Given the description of an element on the screen output the (x, y) to click on. 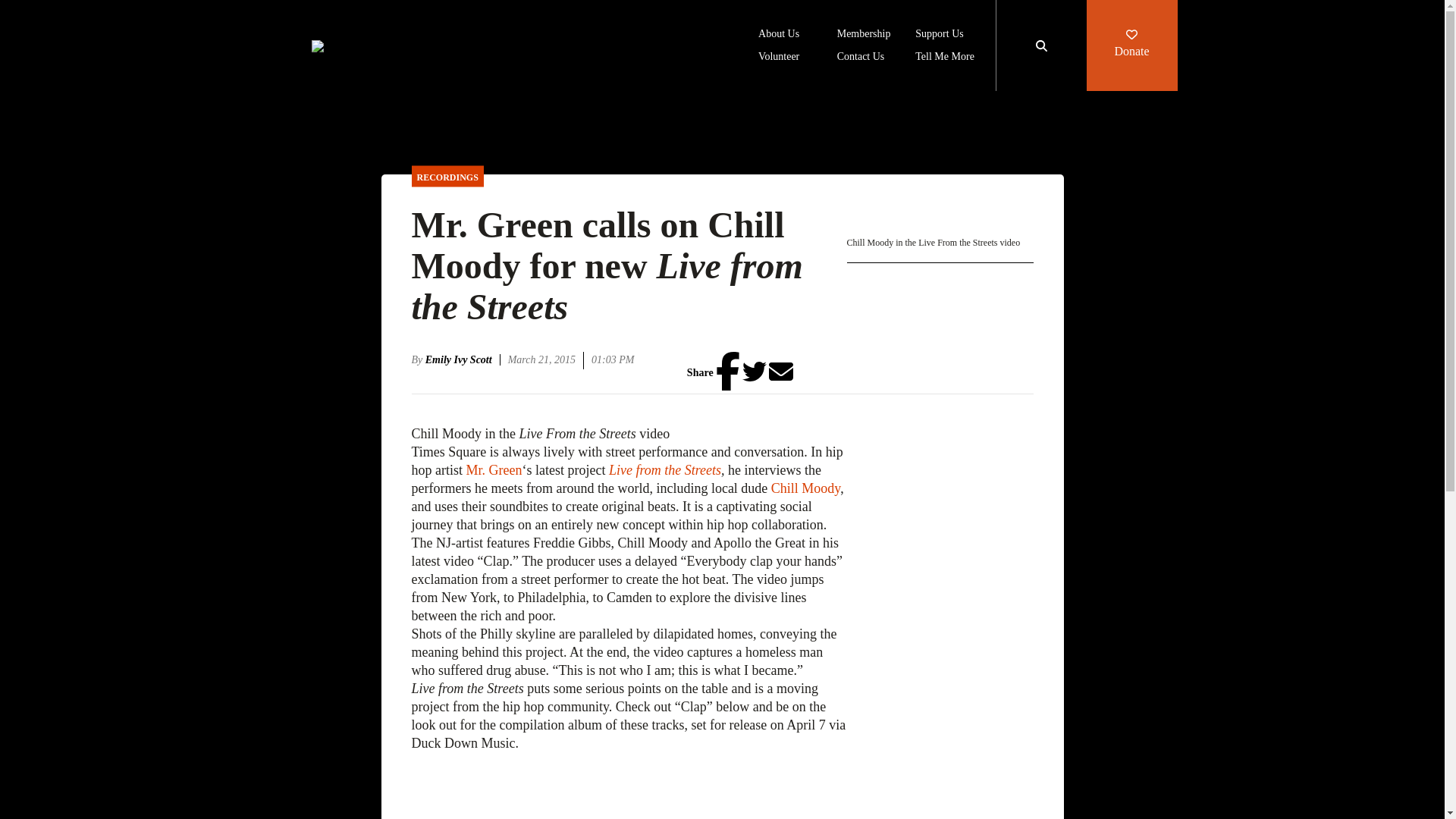
Membership (864, 35)
Live from the Streets (664, 469)
Support Us (938, 35)
Tell Me More (944, 57)
Volunteer (778, 57)
Contact Us (861, 57)
Donate (1131, 45)
Emily Ivy Scott (462, 359)
About Us (778, 35)
Chill Moody (805, 488)
